Given the description of an element on the screen output the (x, y) to click on. 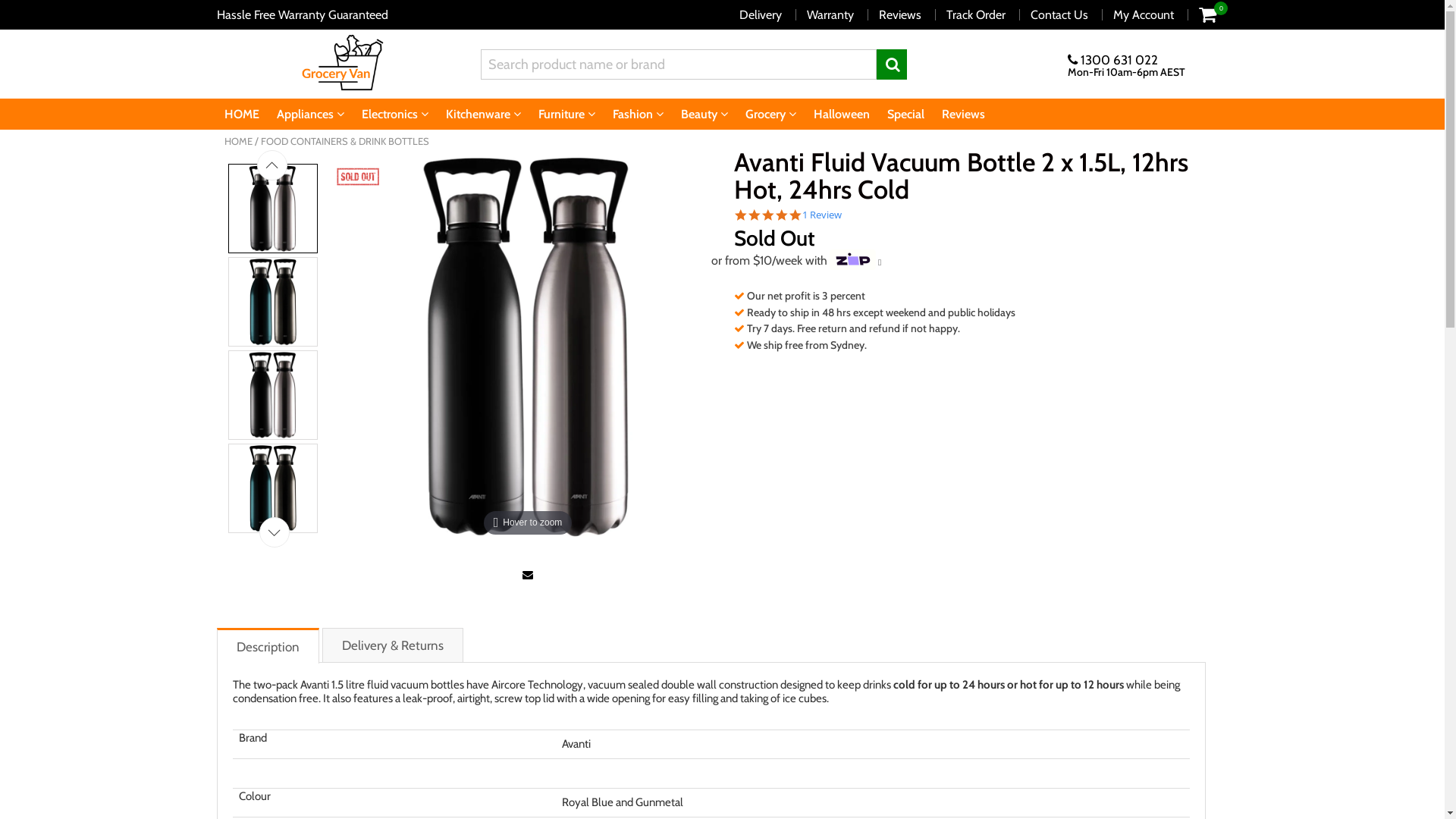
Special Element type: text (905, 113)
Reviews Element type: text (899, 14)
Delivery Element type: text (760, 14)
FOOD CONTAINERS & DRINK BOTTLES Element type: text (344, 140)
HOME Element type: text (238, 140)
My Account Element type: text (1143, 14)
Hover to zoom Element type: text (527, 346)
Appliances Element type: text (309, 113)
Reviews Element type: text (963, 113)
Hassle Free Warranty Guaranteed Element type: text (302, 14)
Electronics Element type: text (393, 113)
Contact Us Element type: text (1059, 14)
Halloween Element type: text (840, 113)
1 Review Element type: text (821, 215)
Track Order Element type: text (975, 14)
Furniture Element type: text (566, 113)
Grocery Element type: text (769, 113)
HOME Element type: text (241, 113)
Description Element type: text (267, 645)
Beauty Element type: text (704, 113)
Warranty Element type: text (829, 14)
0 Element type: text (1207, 14)
Fashion Element type: text (637, 113)
Kitchenware Element type: text (482, 113)
Delivery & Returns Element type: text (391, 644)
1300 631 022 Element type: text (1112, 58)
